Given the description of an element on the screen output the (x, y) to click on. 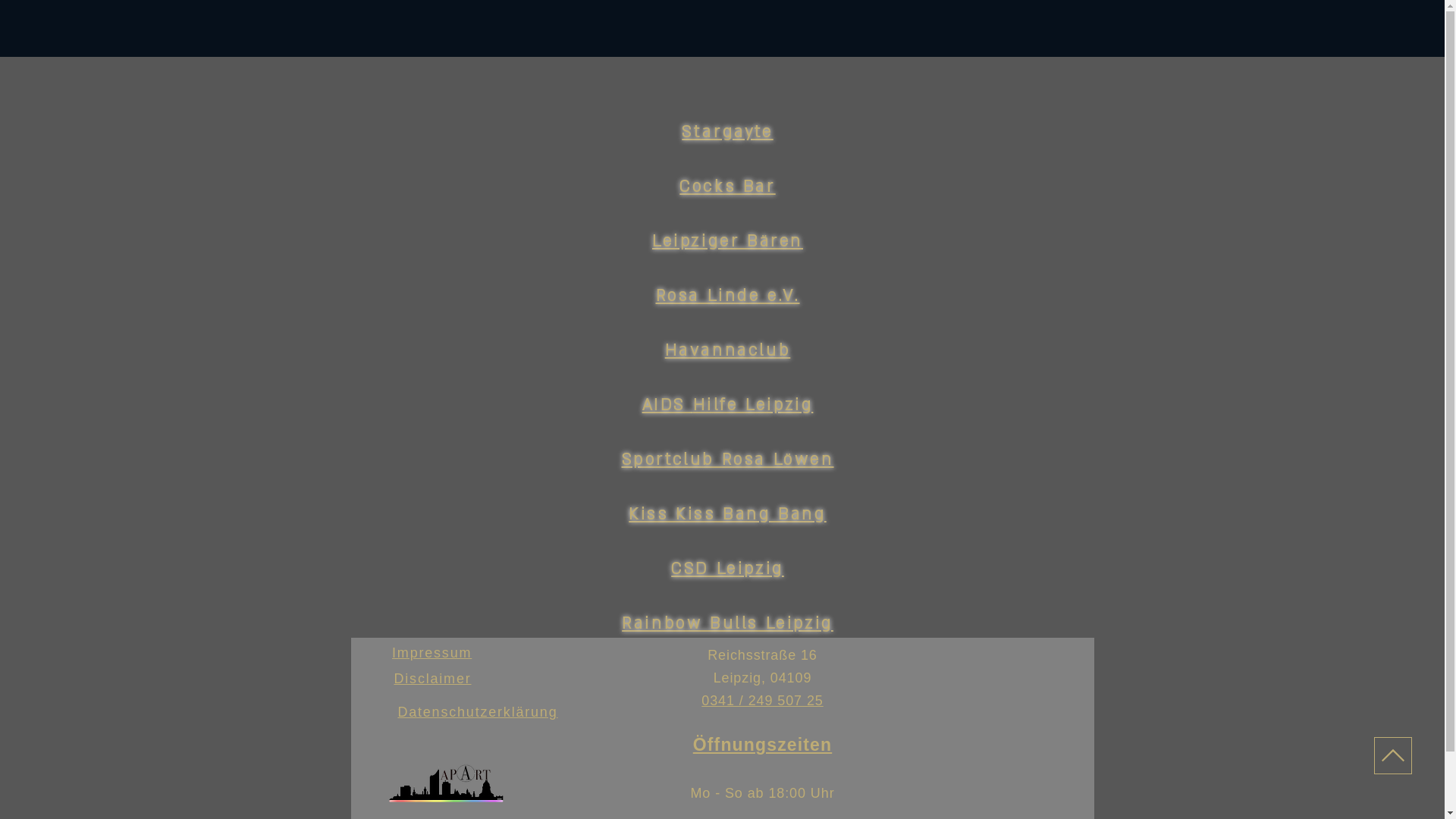
CSD Leipzig Element type: text (727, 569)
Cocks Bar Element type: text (727, 186)
Impressum Element type: text (431, 652)
Rosa Linde e.V. Element type: text (727, 296)
0341 / 249 507 25 Element type: text (761, 701)
Disclaimer Element type: text (431, 679)
Havannaclub Element type: text (727, 350)
Rainbow Bulls Leipzig Element type: text (727, 623)
Kiss Kiss Bang Bang Element type: text (726, 514)
AIDS Hilfe Leipzig Element type: text (727, 405)
Stargayte Element type: text (726, 132)
